Given the description of an element on the screen output the (x, y) to click on. 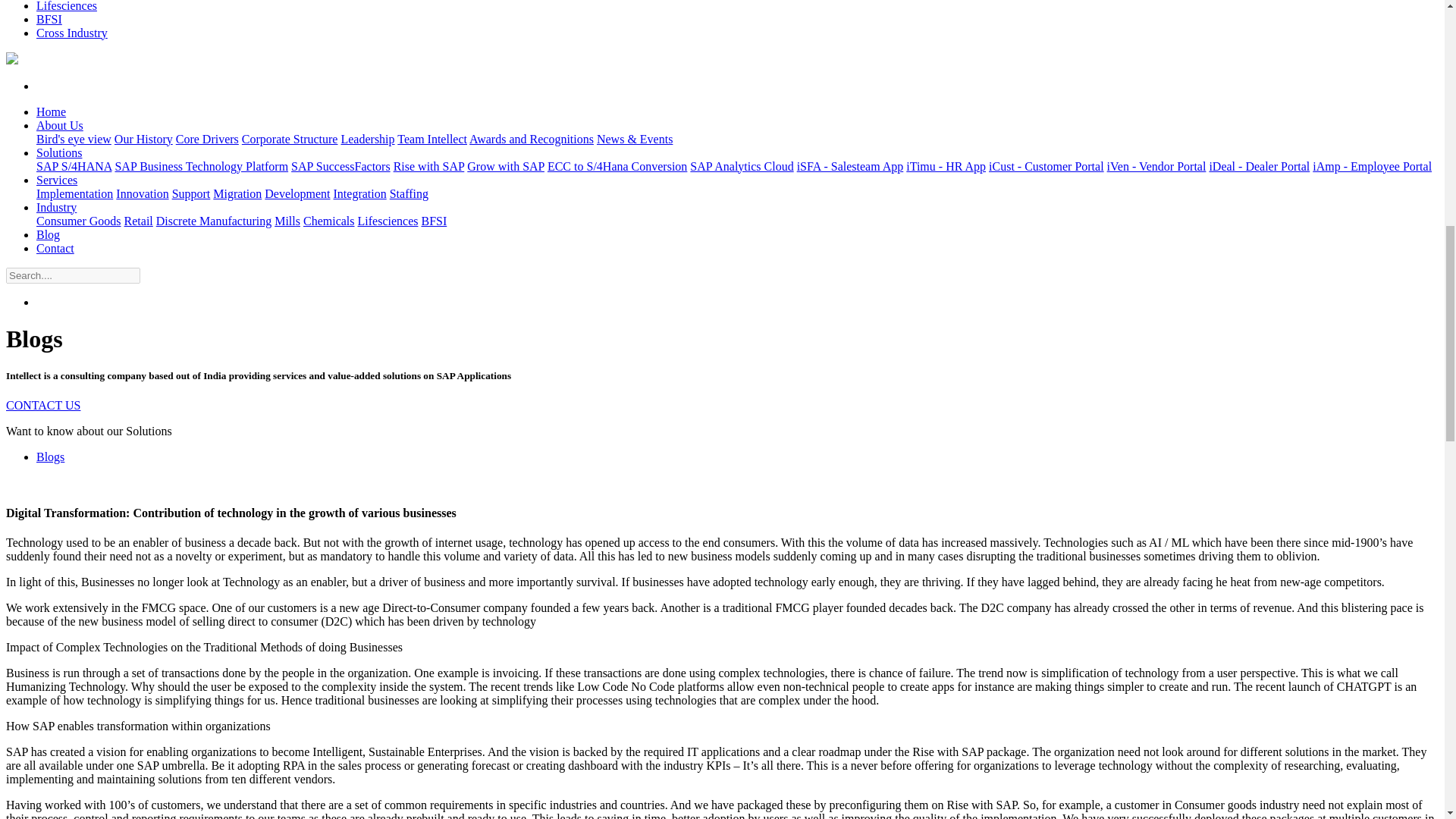
Cross Industry (71, 32)
BFSI (49, 19)
Lifesciences (66, 6)
At least 3 characters (72, 275)
